Given the description of an element on the screen output the (x, y) to click on. 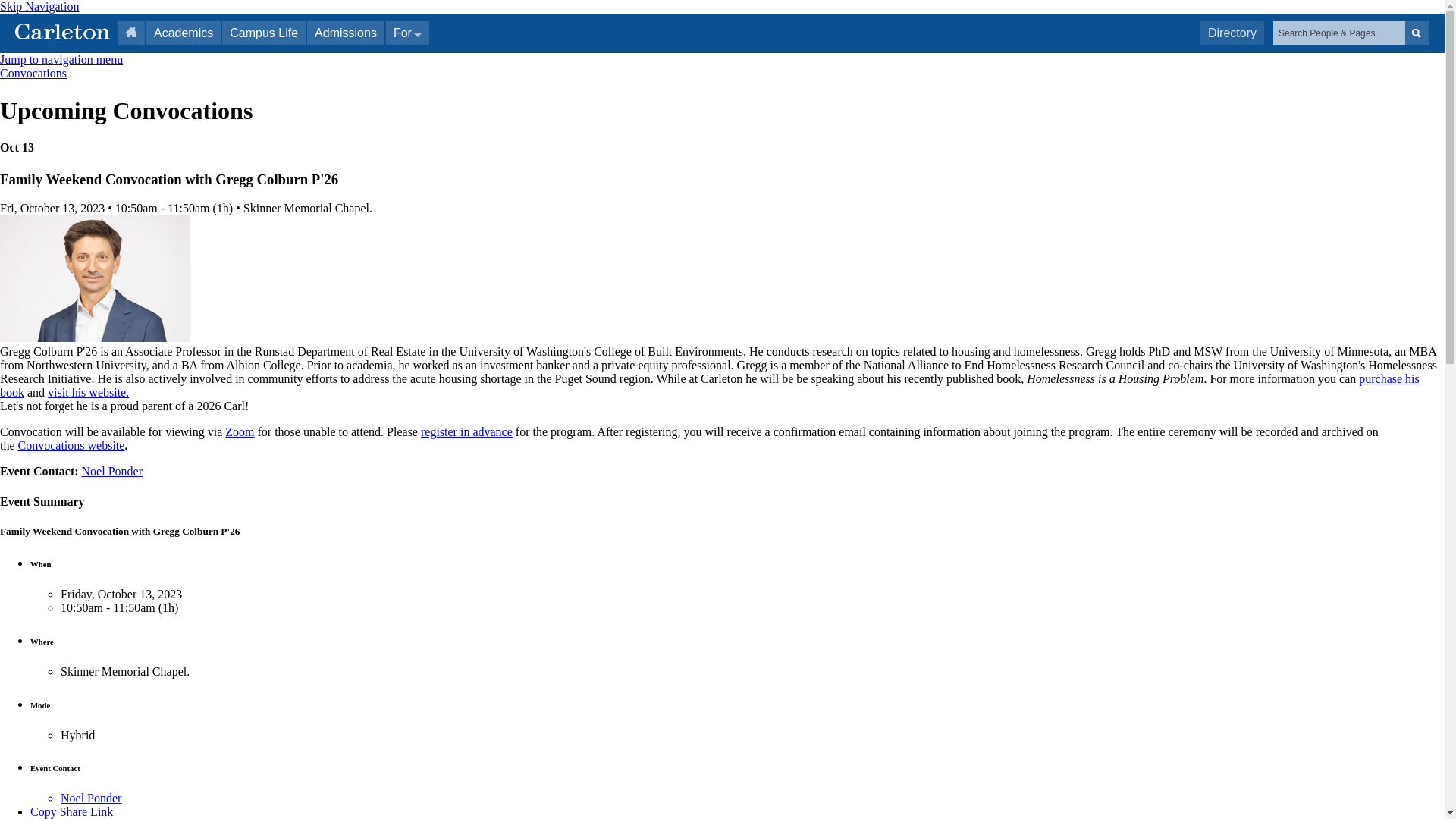
Academics (184, 33)
Jump to navigation menu (61, 59)
Noel Ponder (90, 797)
For (407, 33)
Navigation menu (61, 59)
register in advance (466, 431)
Campus Life (263, 33)
Zoom (239, 431)
Campus Directory (1231, 33)
Copy Share Link (71, 811)
purchase his book (709, 385)
Directory (1231, 33)
visit his website. (88, 391)
Admissions (345, 33)
Convocations (33, 72)
